Given the description of an element on the screen output the (x, y) to click on. 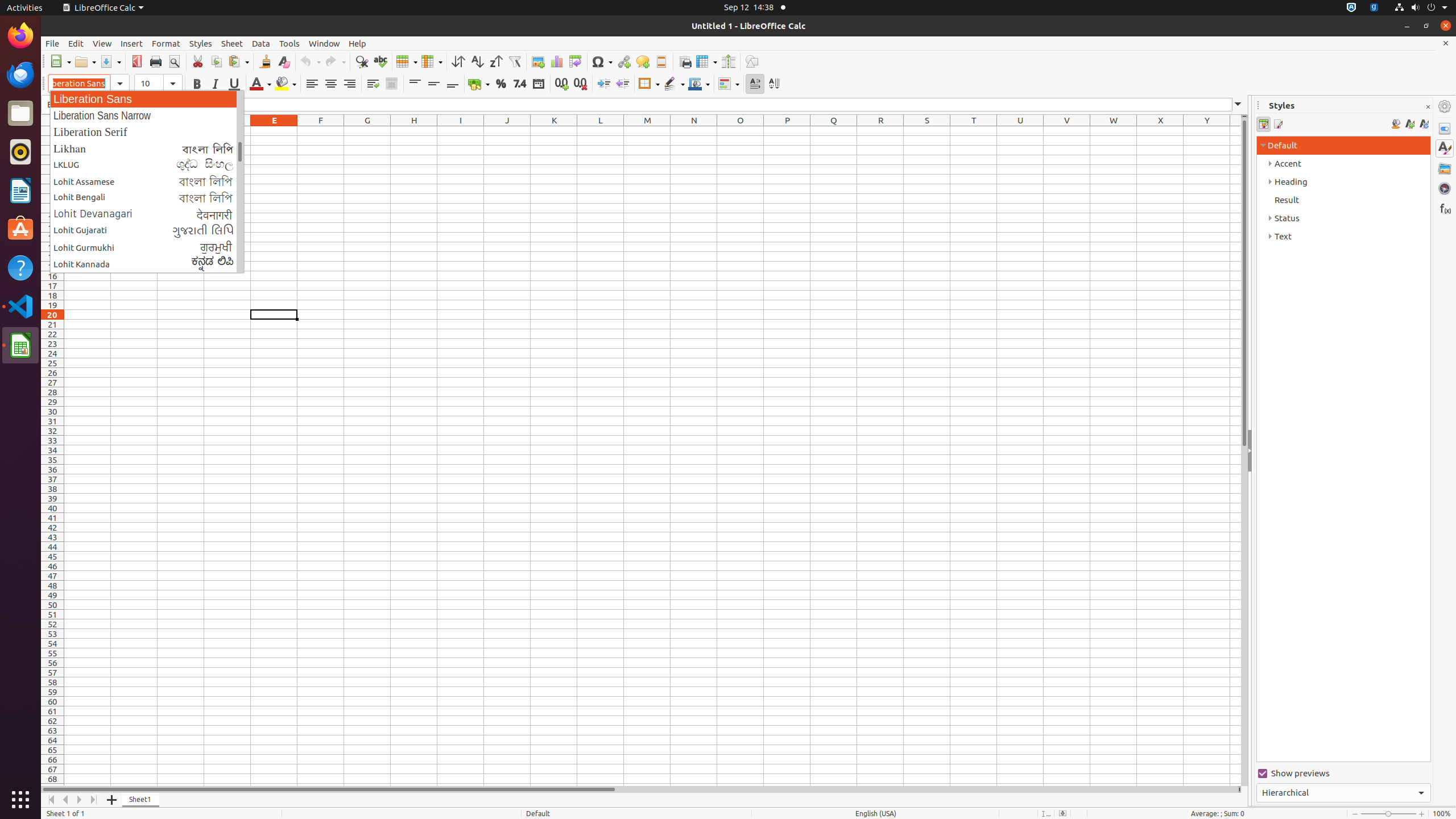
Liberation Sans Narrow Element type: list-item (146, 114)
Thunderbird Mail Element type: push-button (20, 74)
Delete Decimal Place Element type: push-button (580, 83)
Update Style Element type: push-button (1423, 123)
Font Color Element type: push-button (260, 83)
